Given the description of an element on the screen output the (x, y) to click on. 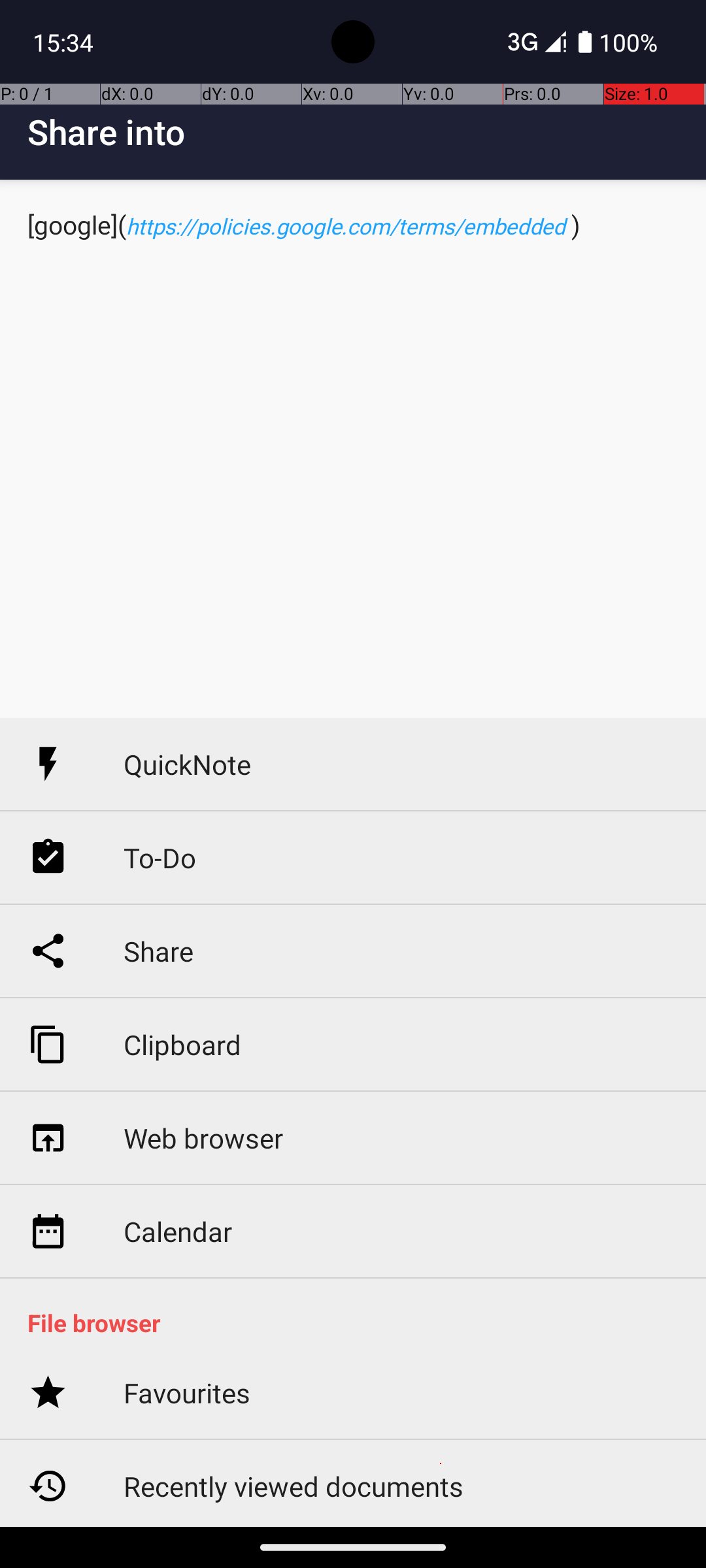
Share into Element type: android.widget.TextView (366, 131)
[google](https://policies.google.com/terms/embedded ) Element type: android.widget.EditText (353, 448)
File browser Element type: android.widget.TextView (359, 1322)
Web browser Element type: android.widget.TextView (203, 1137)
Favourites Element type: android.widget.TextView (186, 1392)
Recently viewed documents Element type: android.widget.TextView (293, 1485)
